Given the description of an element on the screen output the (x, y) to click on. 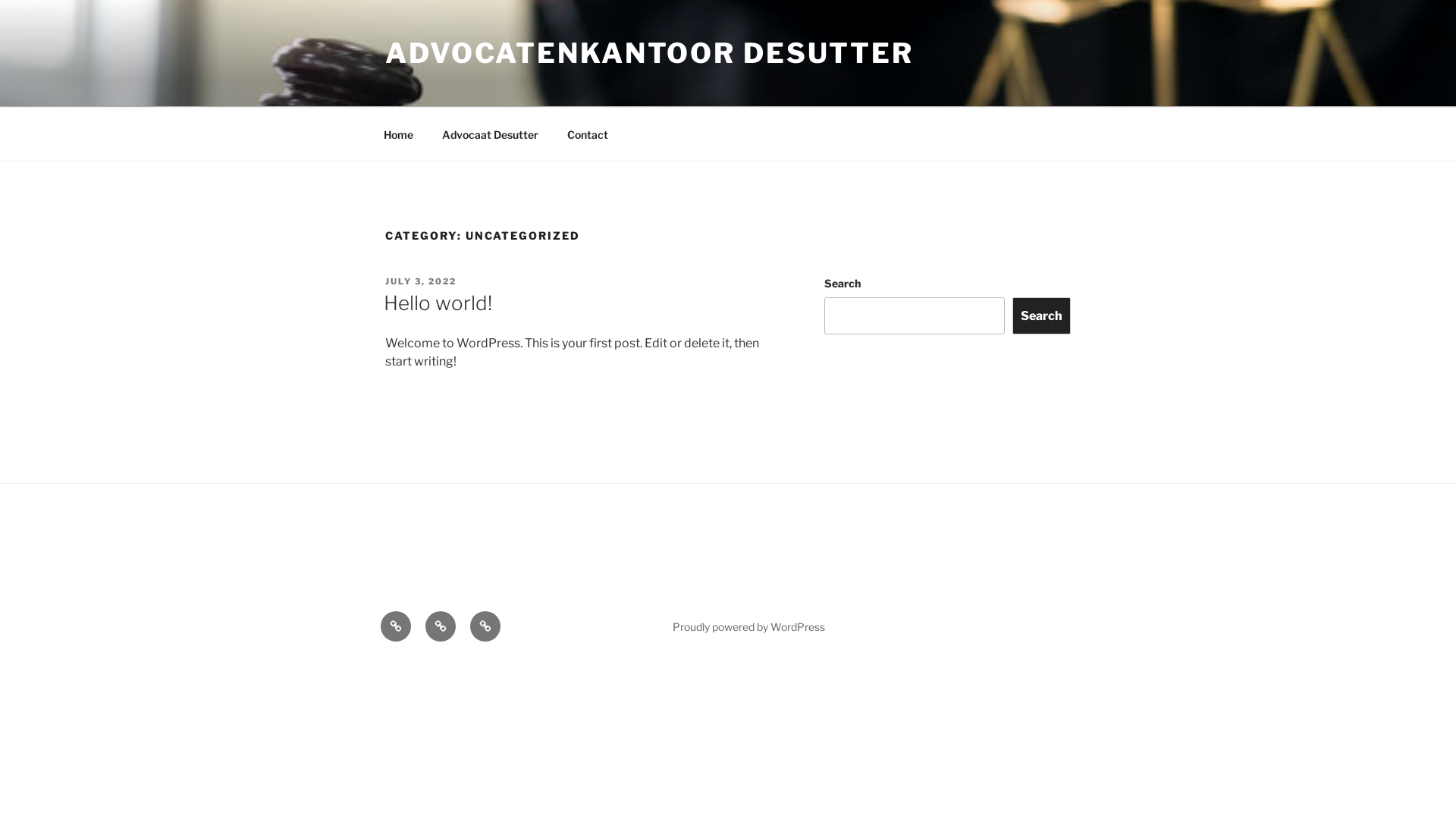
Contact Element type: text (587, 133)
Search Element type: text (1041, 315)
Home Element type: text (398, 133)
Hello world! Element type: text (437, 302)
Advocaat Desutter Element type: text (440, 626)
Advocaat Desutter Element type: text (489, 133)
JULY 3, 2022 Element type: text (420, 281)
ADVOCATENKANTOOR DESUTTER Element type: text (649, 52)
Proudly powered by WordPress Element type: text (748, 626)
Contact Element type: text (485, 626)
Home Element type: text (395, 626)
